Given the description of an element on the screen output the (x, y) to click on. 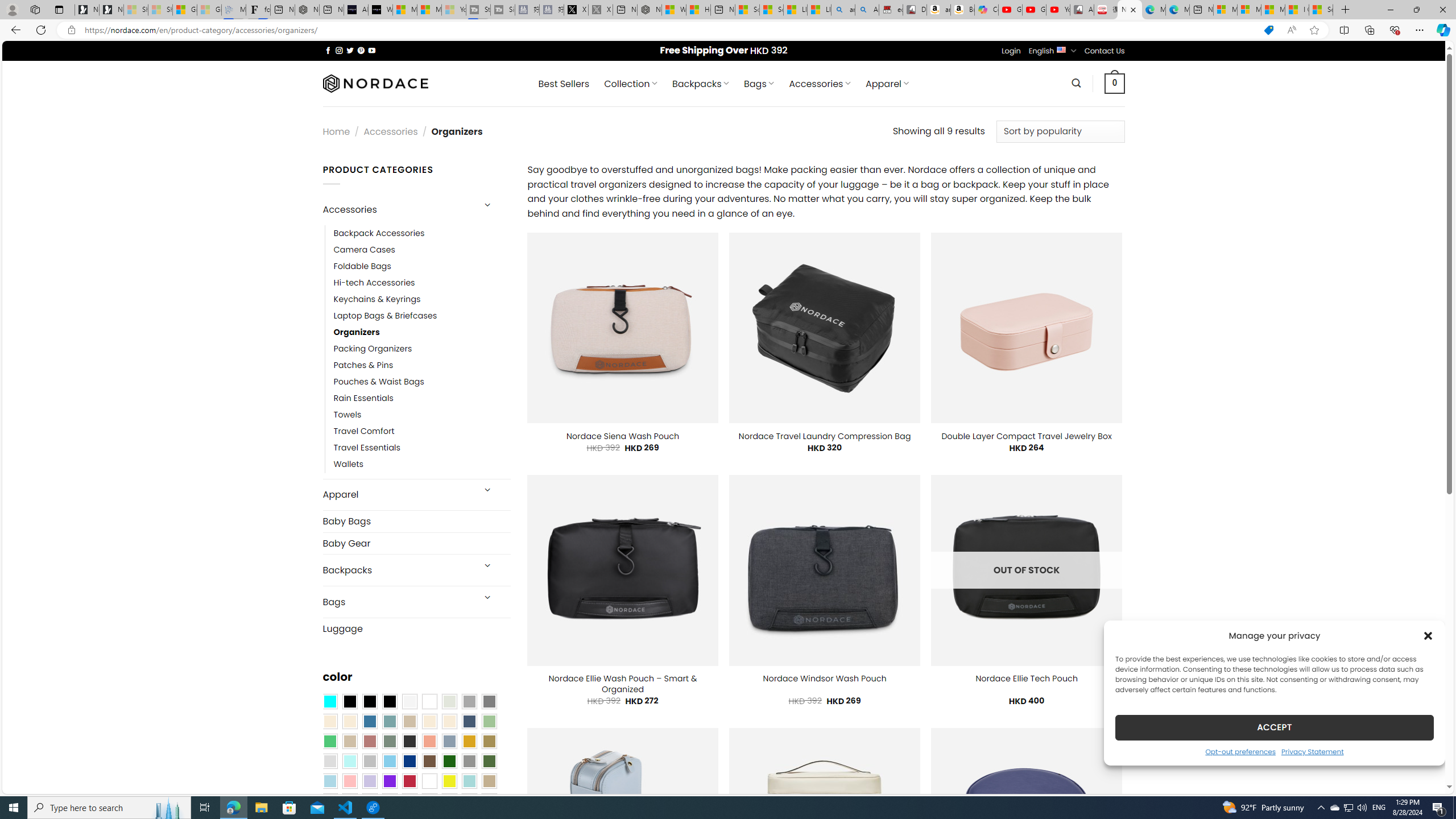
Bags (397, 602)
Wallets (422, 464)
X (575, 9)
Collections (1369, 29)
Nordace - My Account (648, 9)
Pink (349, 780)
Light Blue (329, 780)
New Tab (1346, 9)
Travel Essentials (422, 448)
Backpack Accessories (379, 232)
Newsletter Sign Up (111, 9)
